Given the description of an element on the screen output the (x, y) to click on. 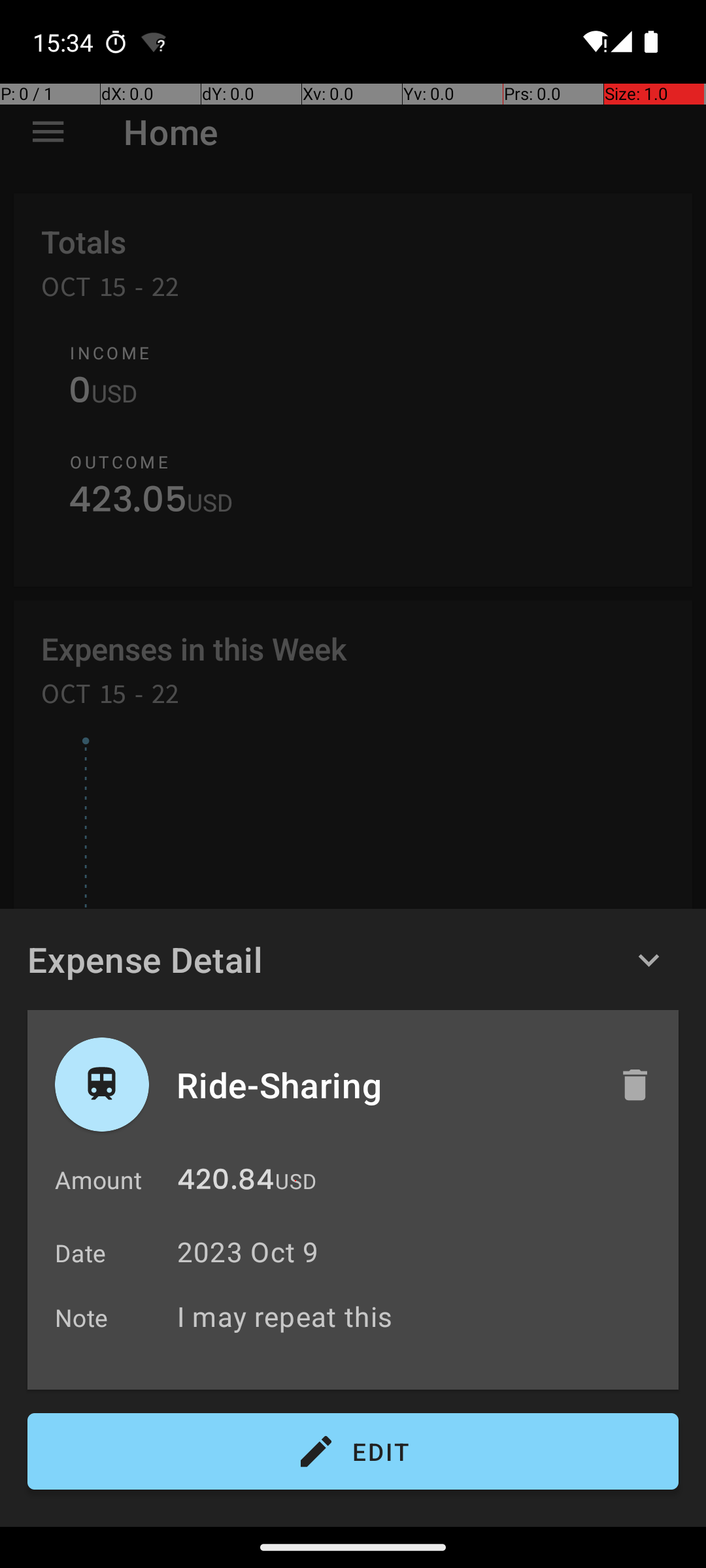
Ride-Sharing Element type: android.widget.TextView (383, 1084)
420.84 Element type: android.widget.TextView (225, 1182)
2023 Oct 9 Element type: android.widget.TextView (247, 1251)
Android System notification: AndroidWifi has limited connectivity Element type: android.widget.ImageView (153, 41)
Wifi signal full.,No internet Element type: android.widget.FrameLayout (593, 41)
